Given the description of an element on the screen output the (x, y) to click on. 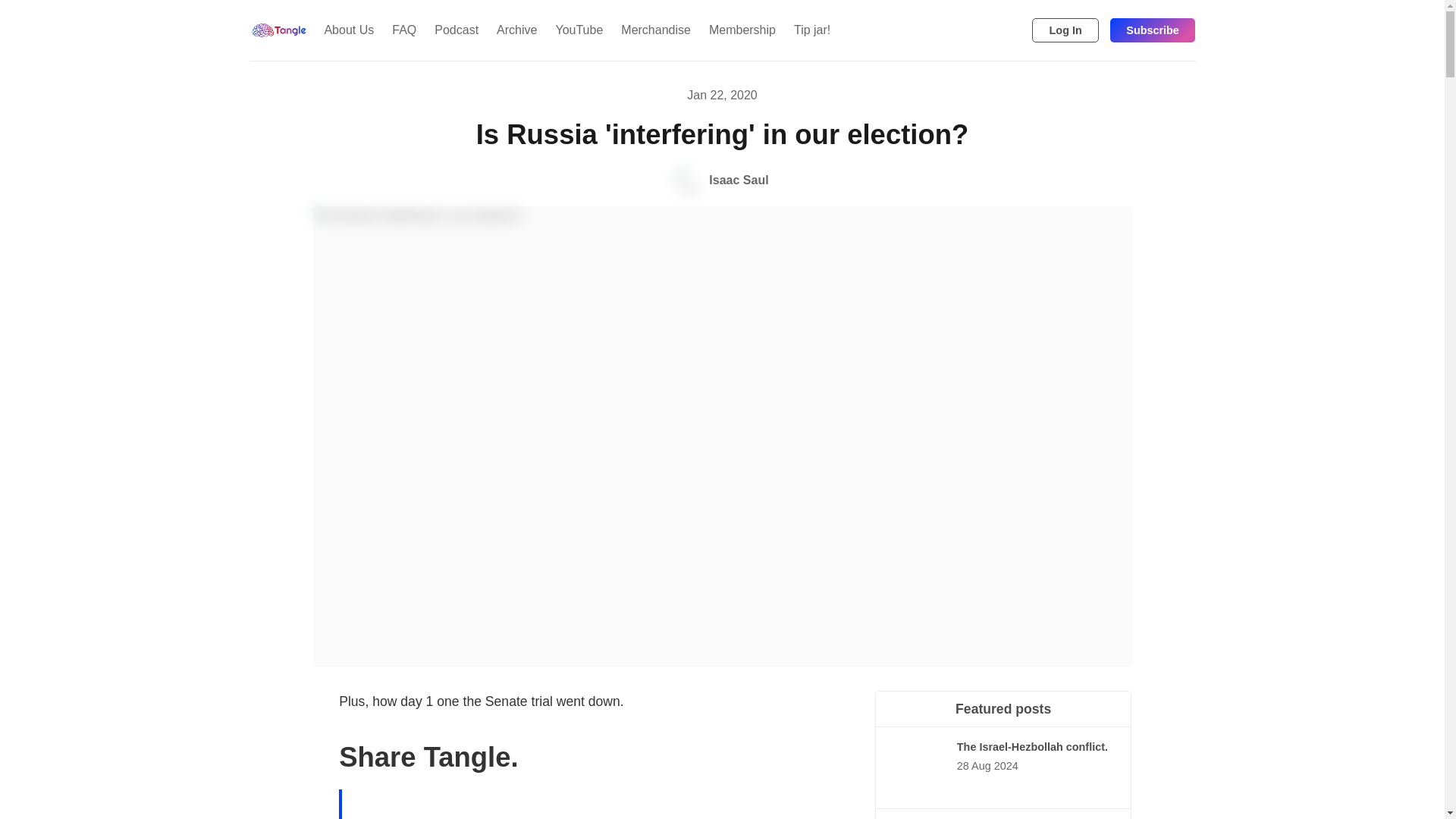
YouTube (578, 29)
More (851, 30)
Theme Toggle (990, 30)
About Us (348, 29)
FAQ (403, 29)
Search (1014, 30)
Isaac Saul (721, 180)
Merchandise (655, 29)
Membership (742, 29)
Log In (1065, 30)
